Given the description of an element on the screen output the (x, y) to click on. 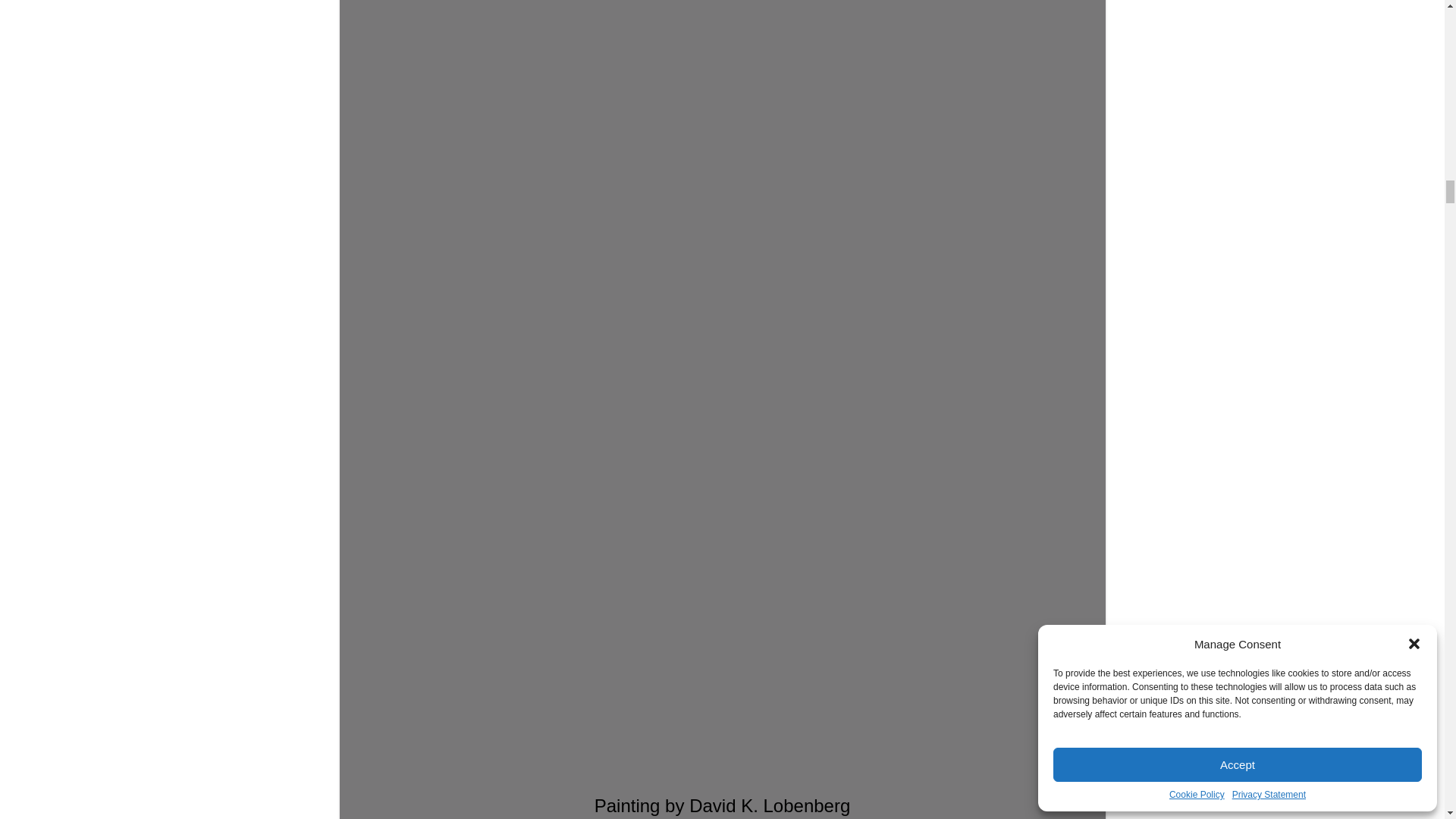
Painting by David K. Lobenberg (721, 394)
